Given the description of an element on the screen output the (x, y) to click on. 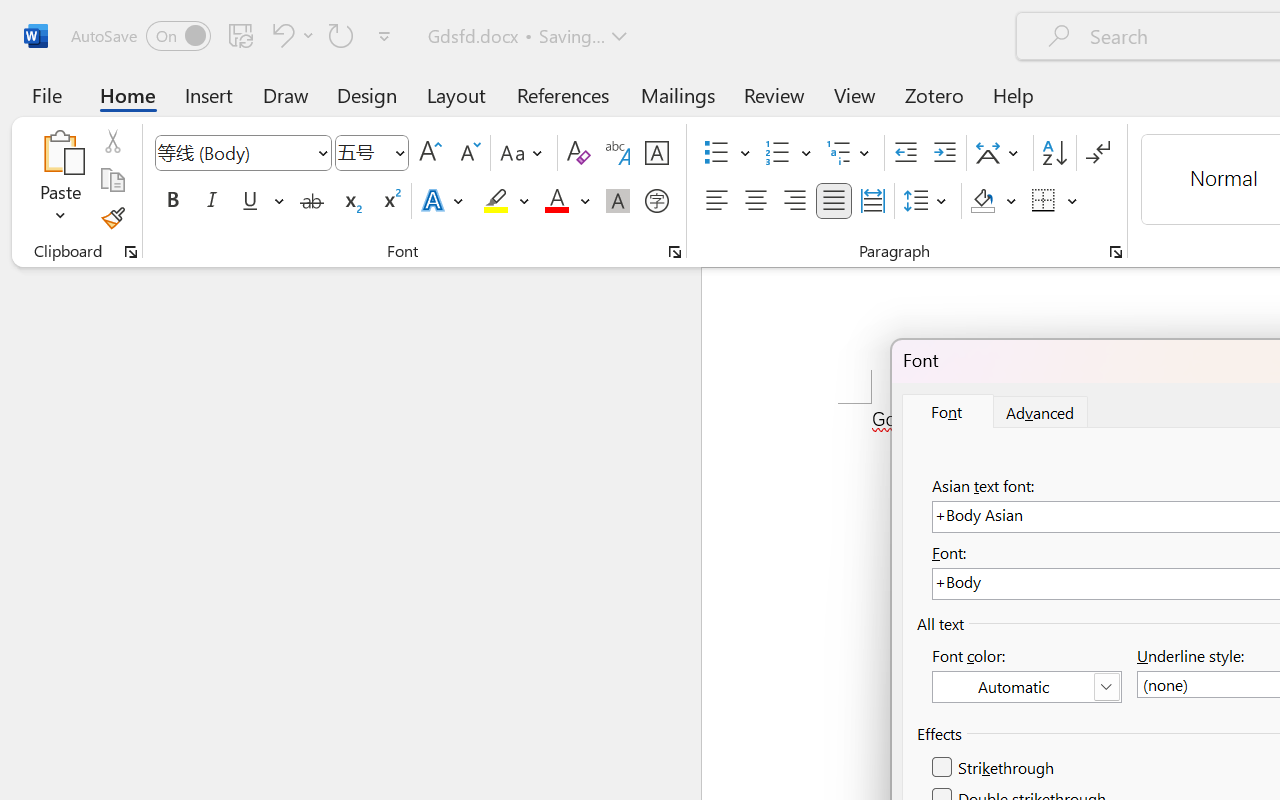
Cut (112, 141)
Enclose Characters... (656, 201)
Strikethrough (994, 767)
Phonetic Guide... (618, 153)
Change Case (524, 153)
Font Color Red (556, 201)
Align Right (794, 201)
Shading (993, 201)
Superscript (390, 201)
Subscript (350, 201)
